Given the description of an element on the screen output the (x, y) to click on. 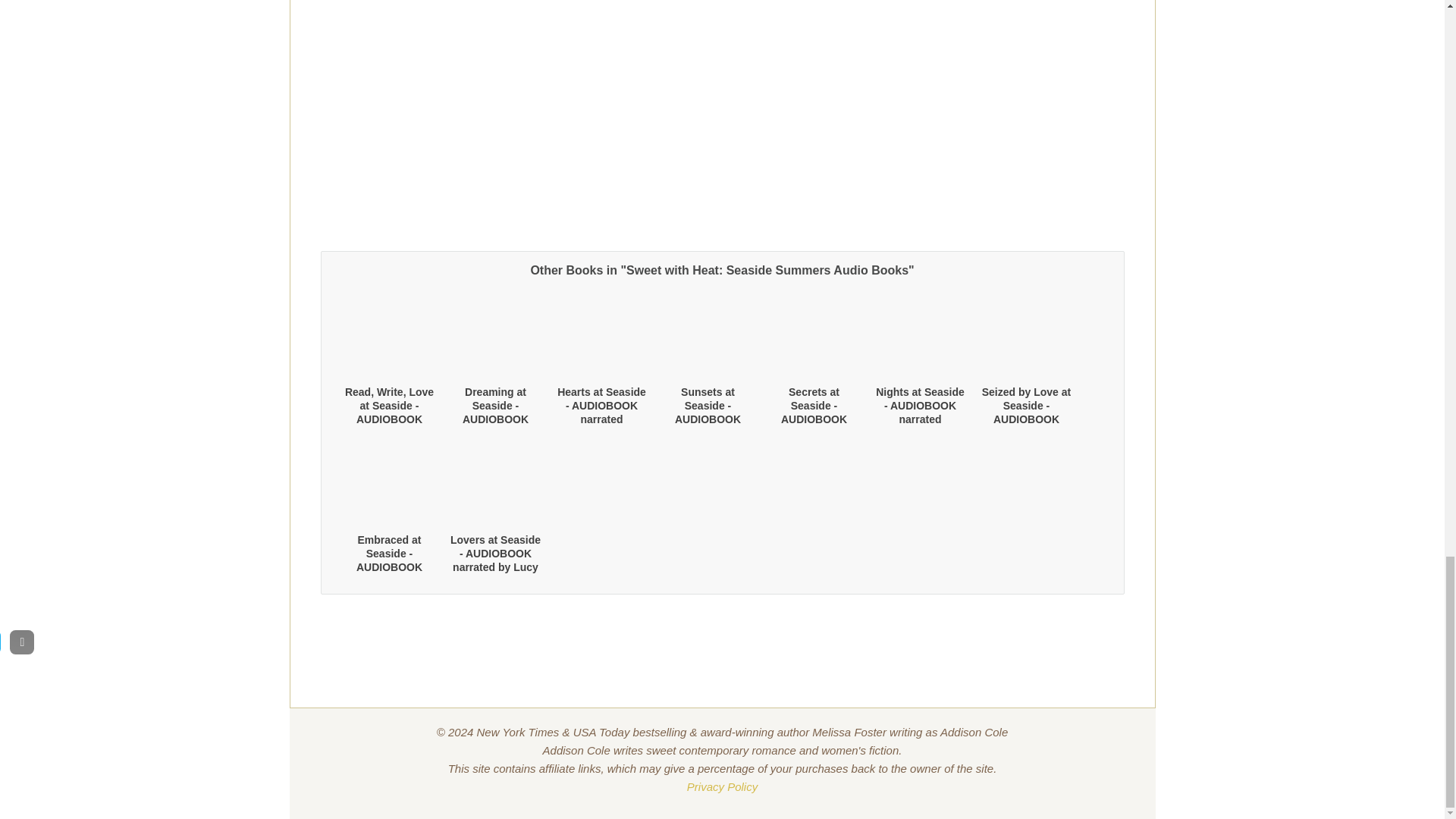
Dreaming at Seaside - AUDIOBOOK narrated by Melissa Moran (495, 419)
Hearts at Seaside - AUDIOBOOK narrated by Melissa Moran (601, 412)
